Given the description of an element on the screen output the (x, y) to click on. 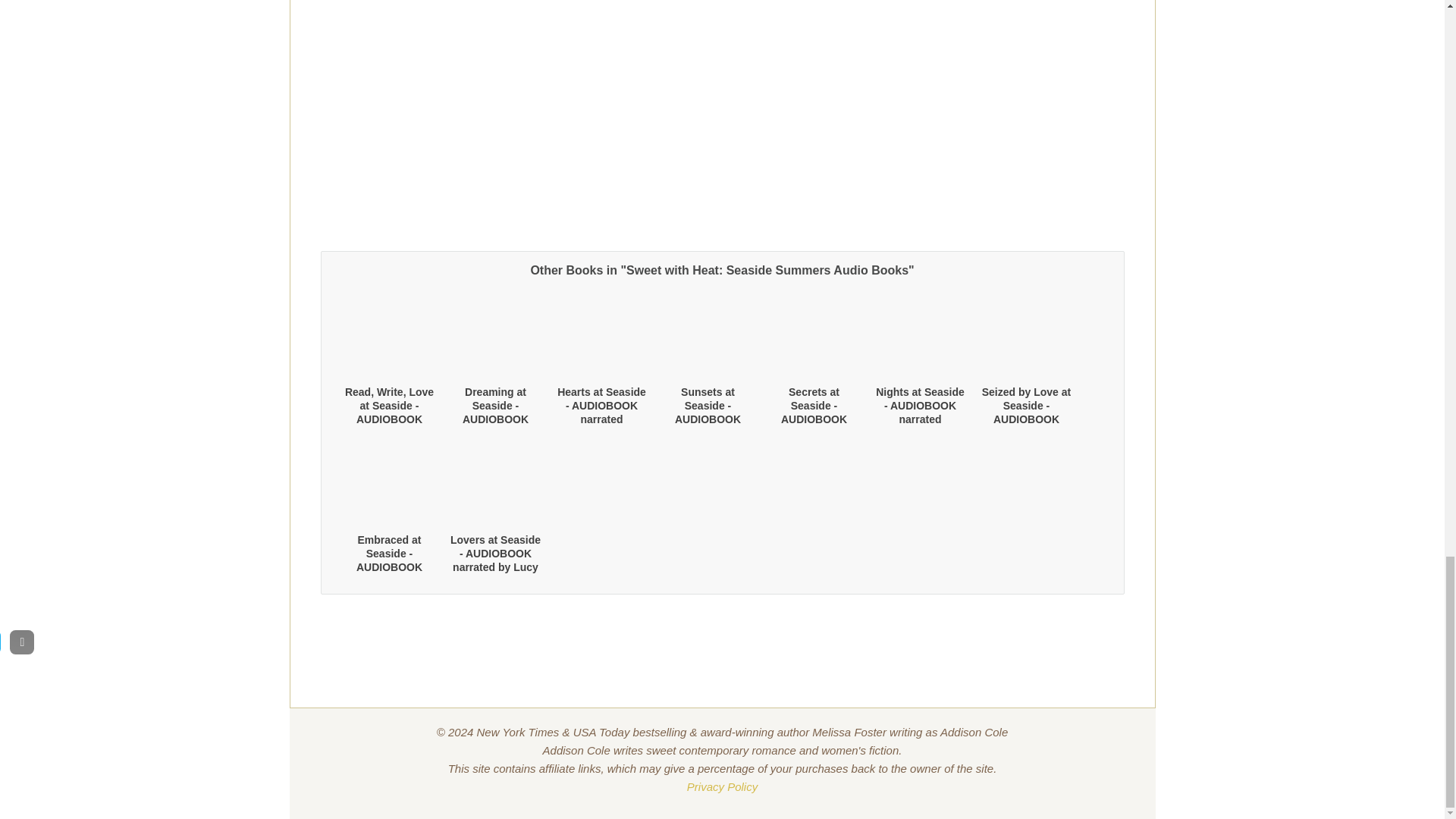
Dreaming at Seaside - AUDIOBOOK narrated by Melissa Moran (495, 419)
Hearts at Seaside - AUDIOBOOK narrated by Melissa Moran (601, 412)
